Given the description of an element on the screen output the (x, y) to click on. 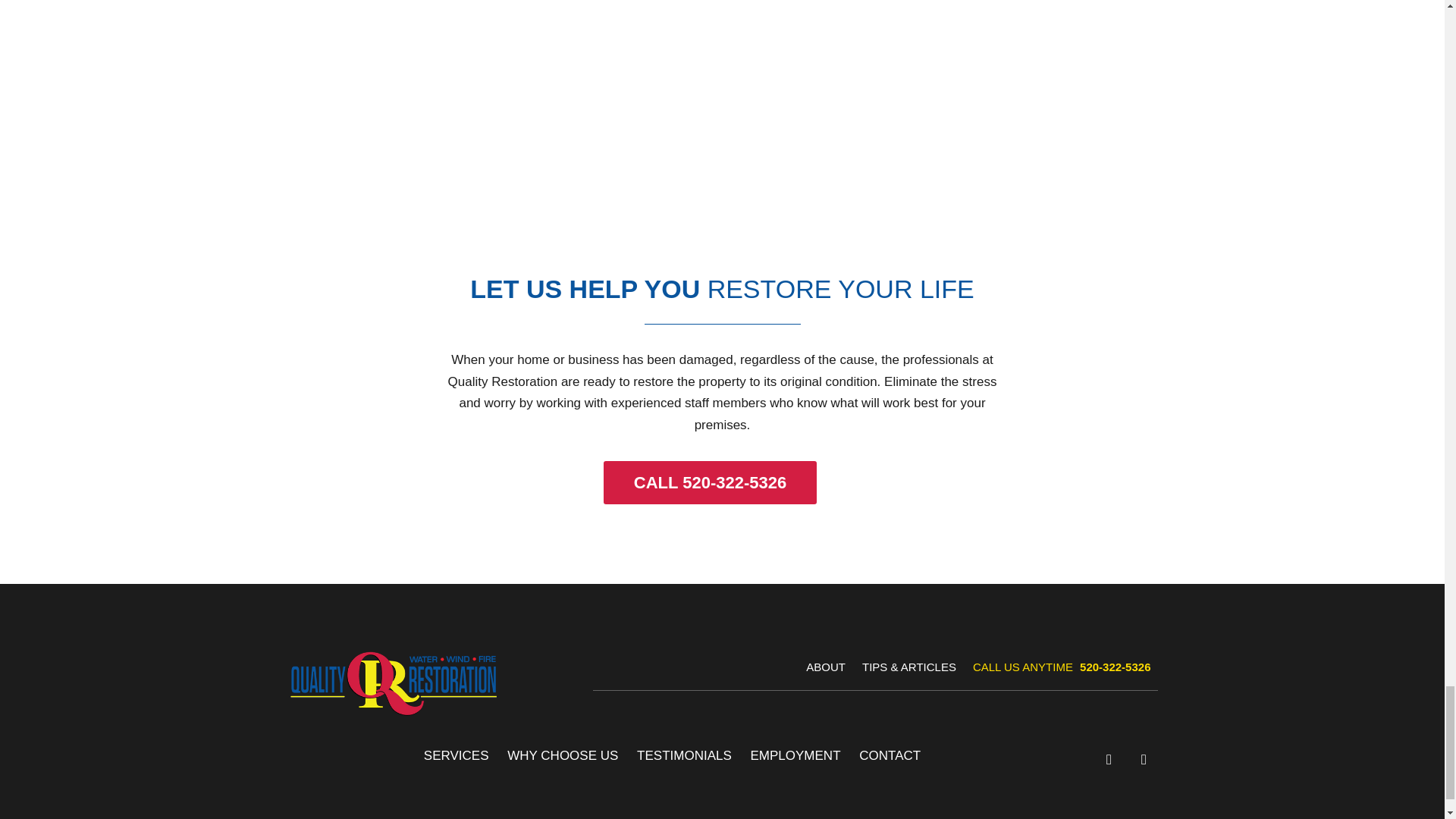
Follow on Facebook (1109, 765)
Follow on X (1143, 765)
Quality Restoration 24 Hour Emergency Services (722, 128)
logo (392, 687)
